Given the description of an element on the screen output the (x, y) to click on. 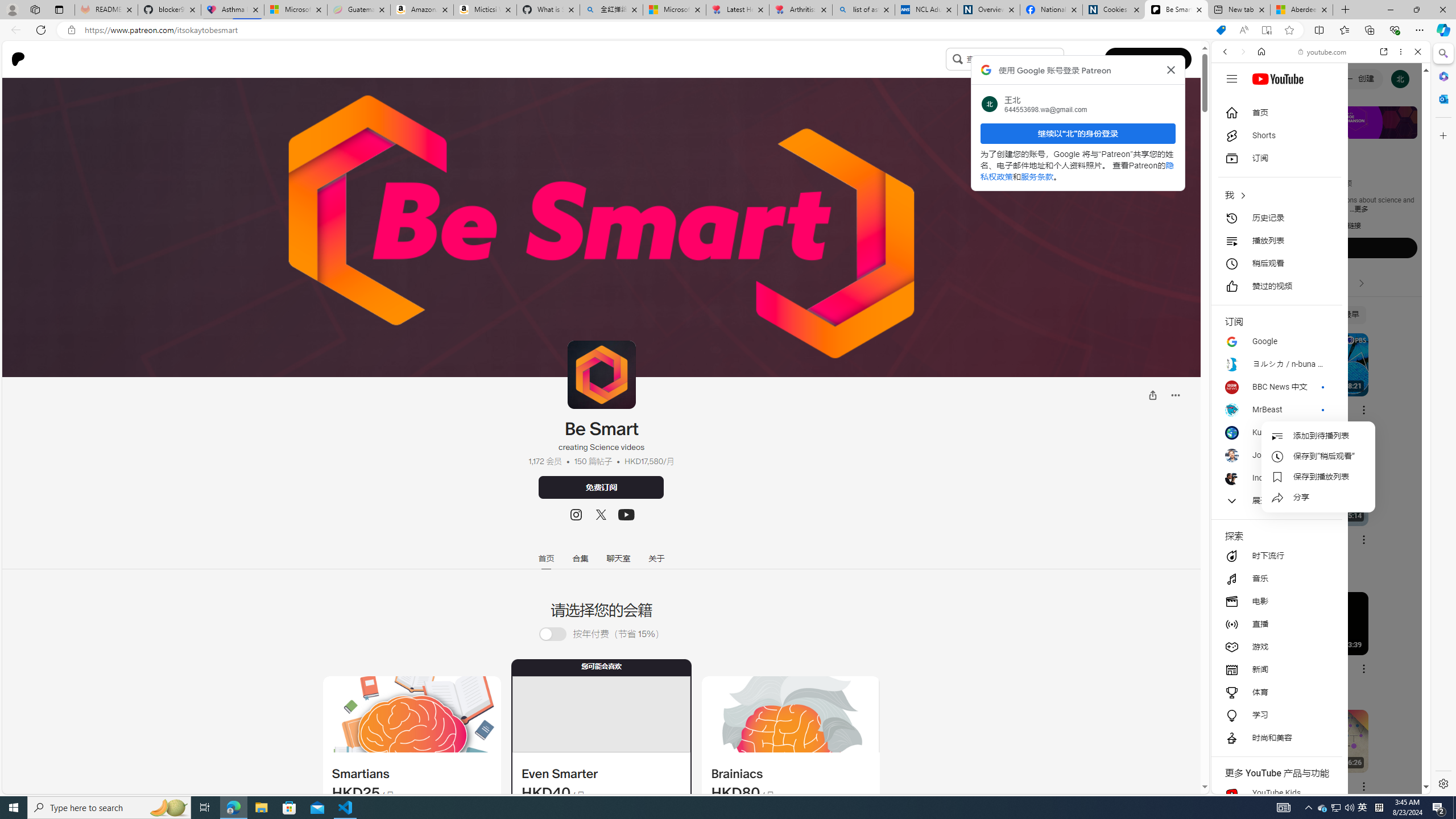
you (1315, 755)
AutomationID: button (1231, 78)
YouTube - YouTube (1315, 560)
Shopping in Microsoft Edge (1220, 29)
Google (1320, 281)
Microsoft-Report a Concern to Bing (295, 9)
Class: sc-jrQzAO HeRcC sc-1b5vbhn-1 hqVCmM (625, 514)
Class: sc-jrQzAO inFiZu (957, 58)
youtube.com (1322, 51)
